Given the description of an element on the screen output the (x, y) to click on. 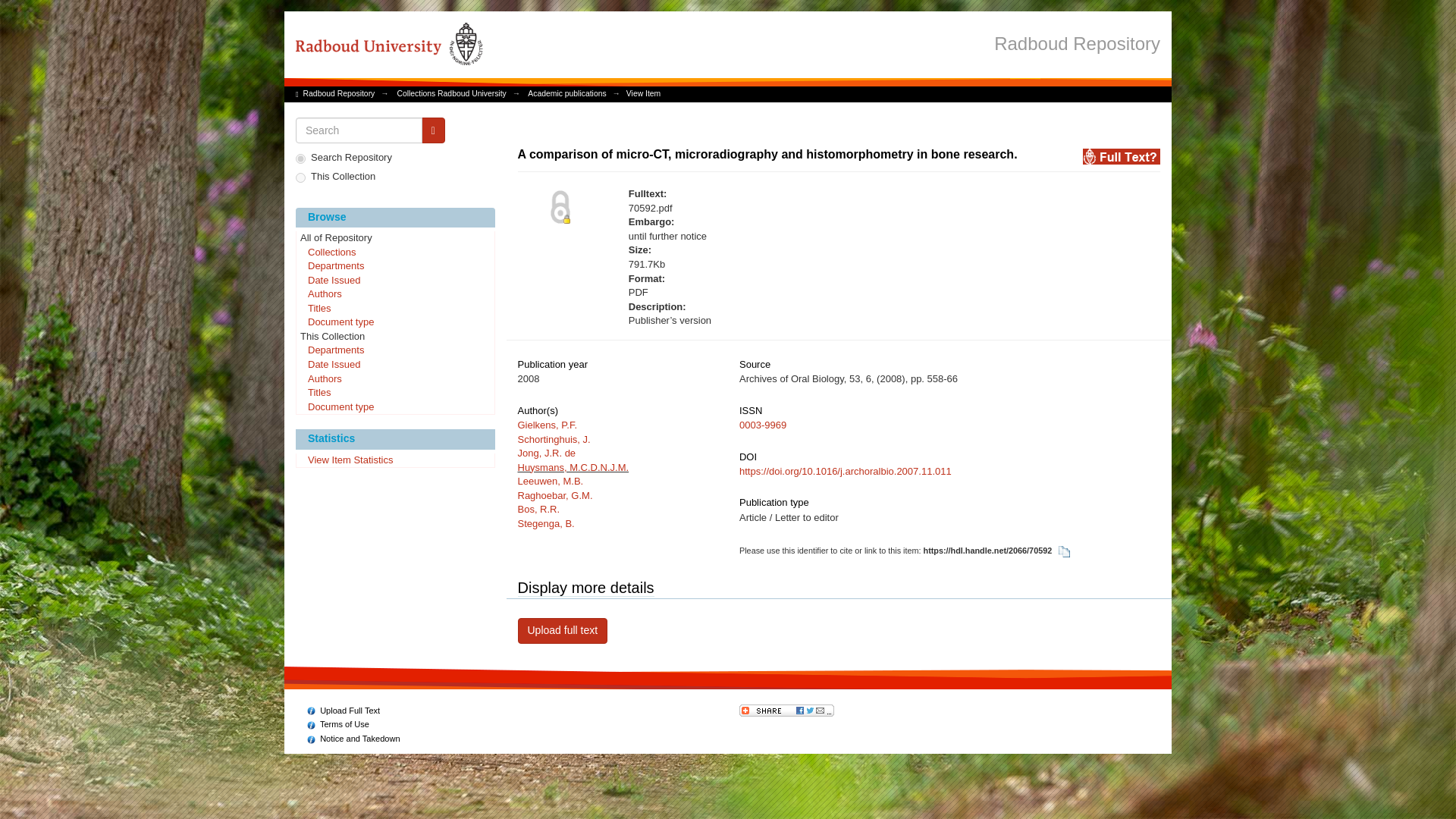
Radboud Repository (338, 93)
Information about the File Upload (343, 709)
Schortinghuis, J. (552, 439)
Statistics (395, 438)
Departments (395, 350)
Departments (395, 266)
Authors (395, 379)
0003-9969 (762, 424)
Titles (395, 309)
Jong, J.R. de (545, 452)
